Given the description of an element on the screen output the (x, y) to click on. 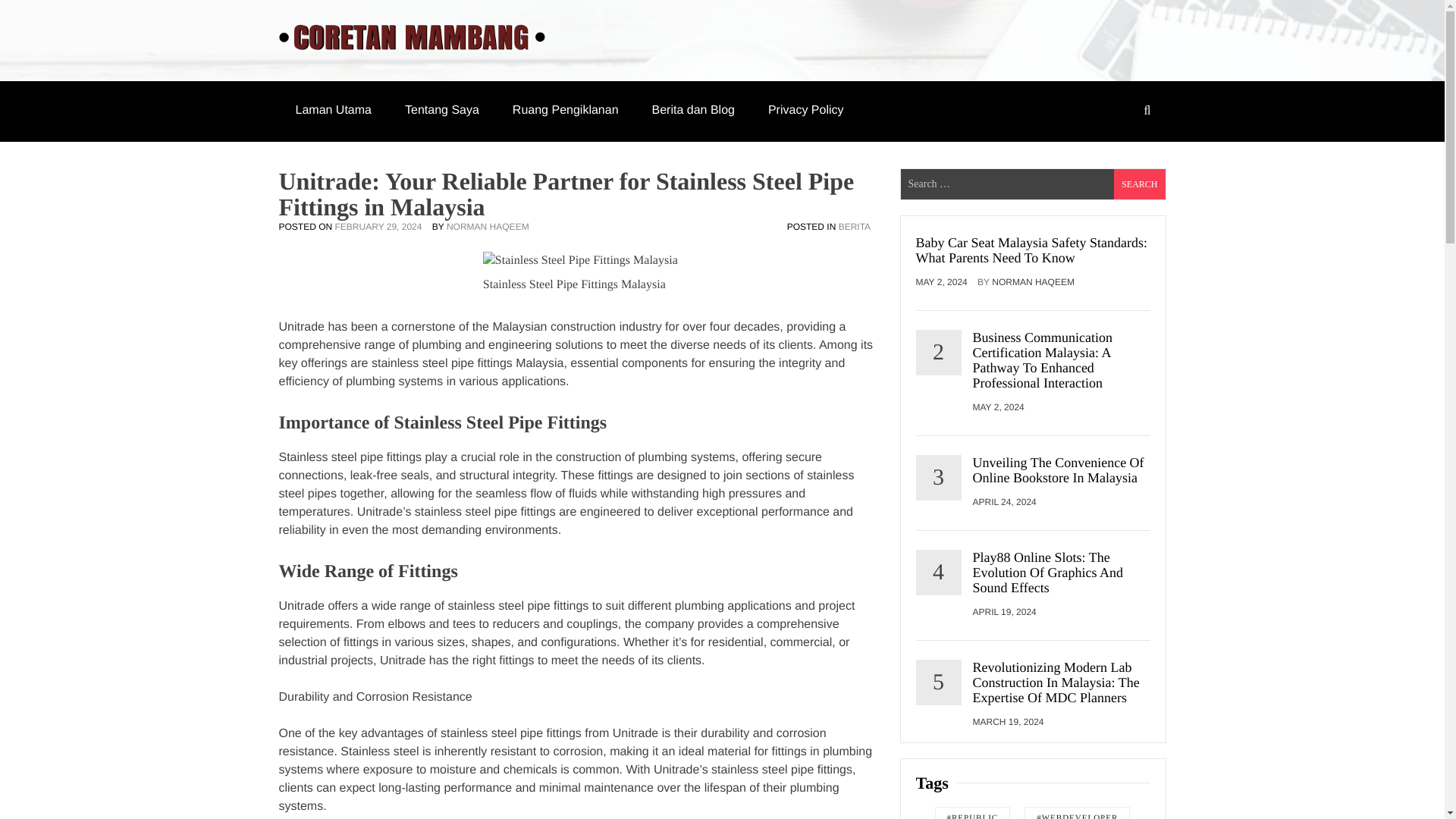
Unveiling The Convenience Of Online Bookstore In Malaysia (1061, 470)
Berita dan Blog (692, 110)
MAY 2, 2024 (945, 281)
Search (1138, 183)
Privacy Policy (805, 110)
Tentang Saya (442, 110)
performance (795, 512)
Search (1138, 183)
NORMAN HAQEEM (1032, 281)
FEBRUARY 29, 2024 (381, 226)
industrial (303, 660)
Laman Utama (333, 110)
